Given the description of an element on the screen output the (x, y) to click on. 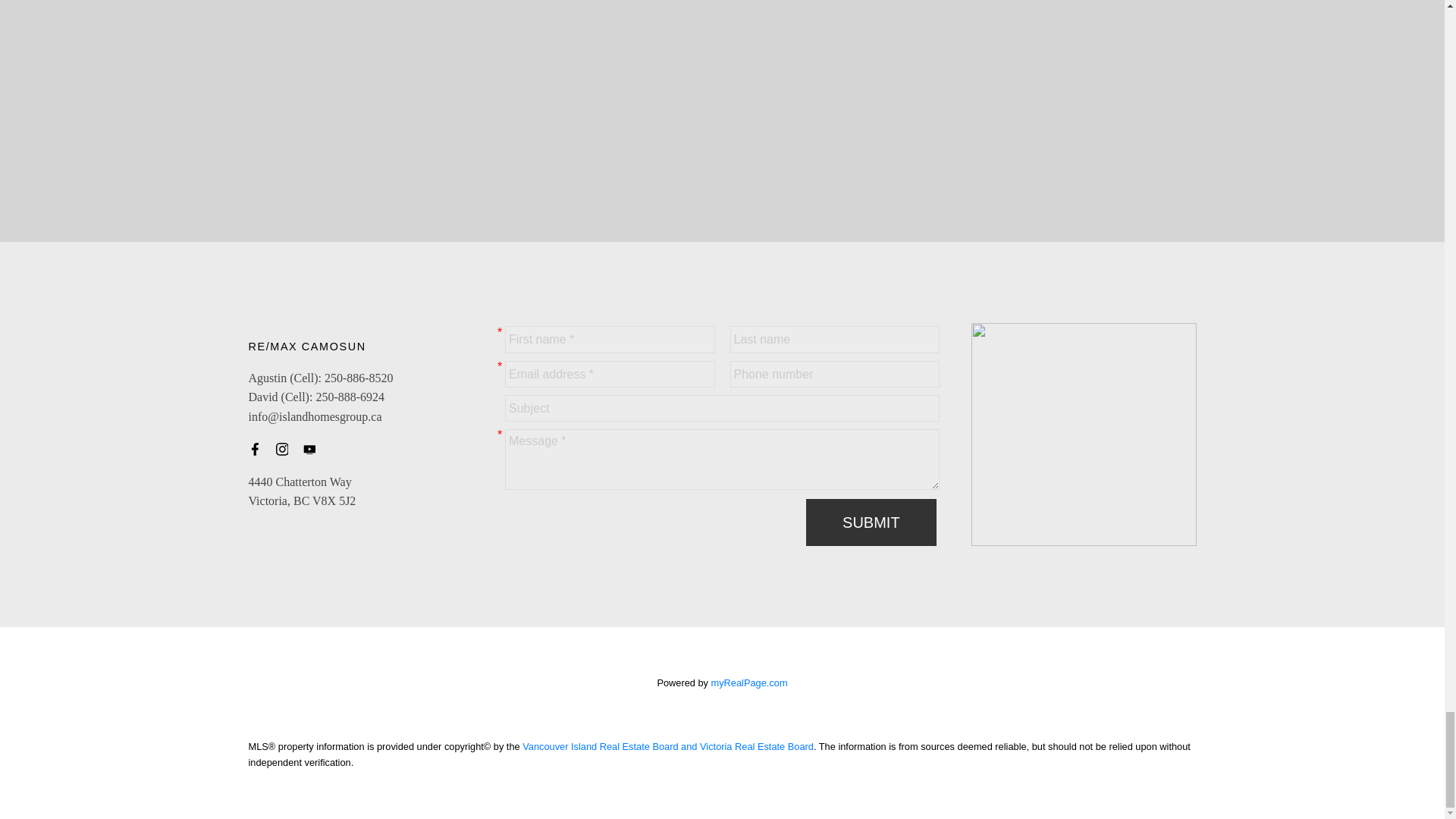
instagram (286, 449)
Facebook (258, 449)
Youtube (313, 449)
